Given the description of an element on the screen output the (x, y) to click on. 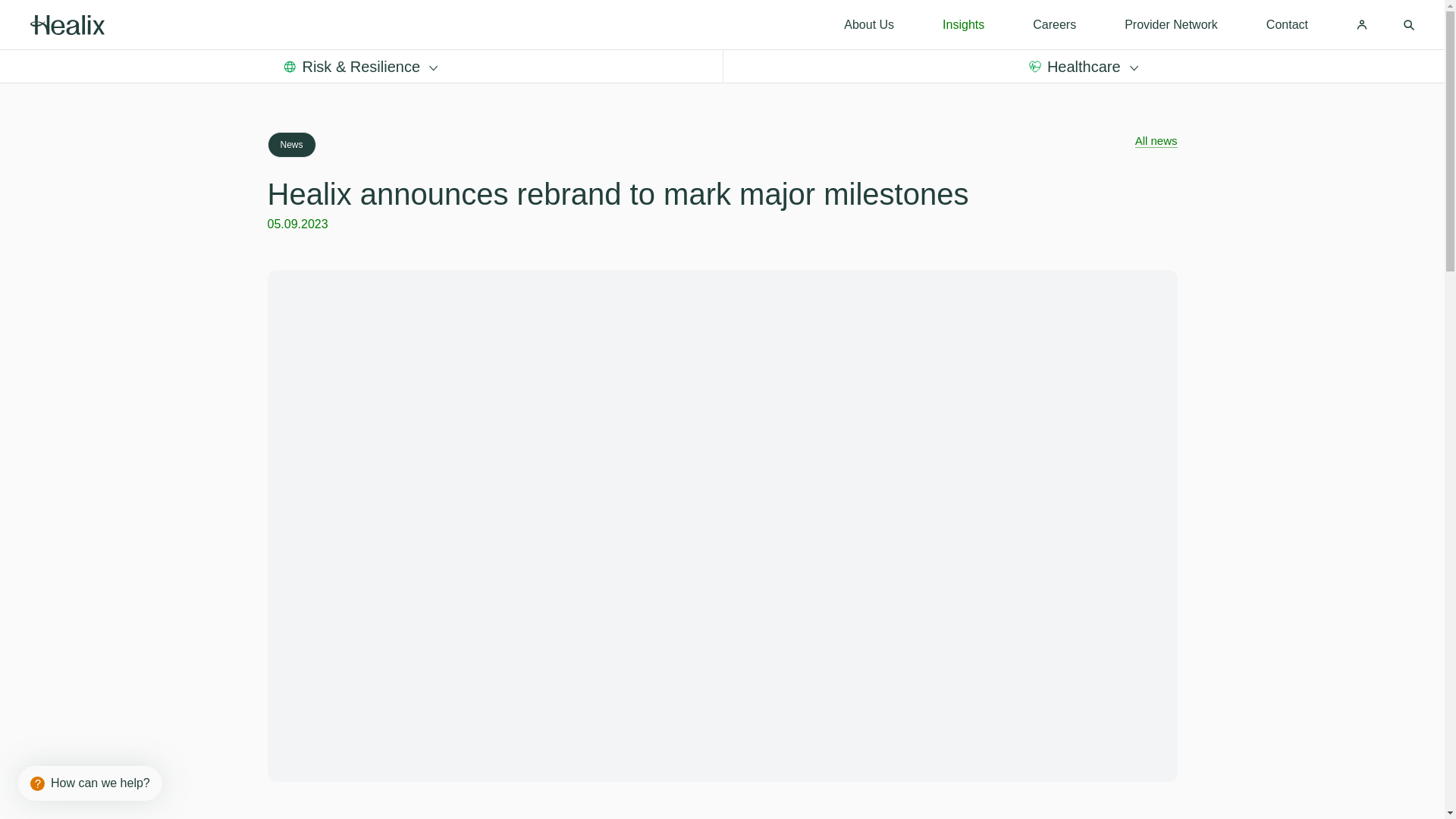
Provider Network (1170, 24)
Insights (963, 24)
Contact (1286, 24)
About Us (868, 24)
Careers (1053, 24)
